Given the description of an element on the screen output the (x, y) to click on. 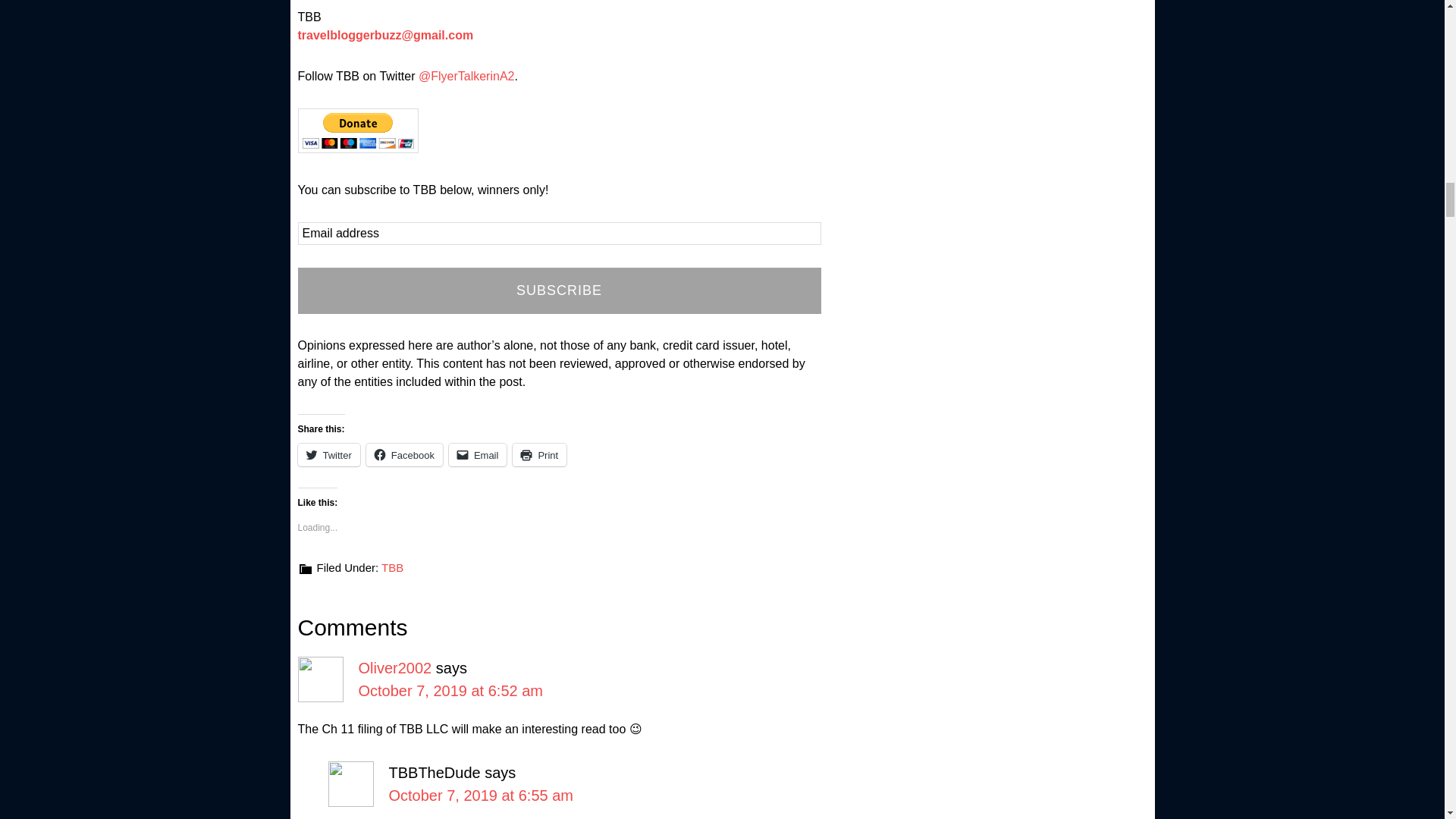
Click to print (539, 454)
Click to share on Twitter (328, 454)
Click to share on Facebook (404, 454)
Subscribe (559, 290)
Click to email a link to a friend (477, 454)
